Given the description of an element on the screen output the (x, y) to click on. 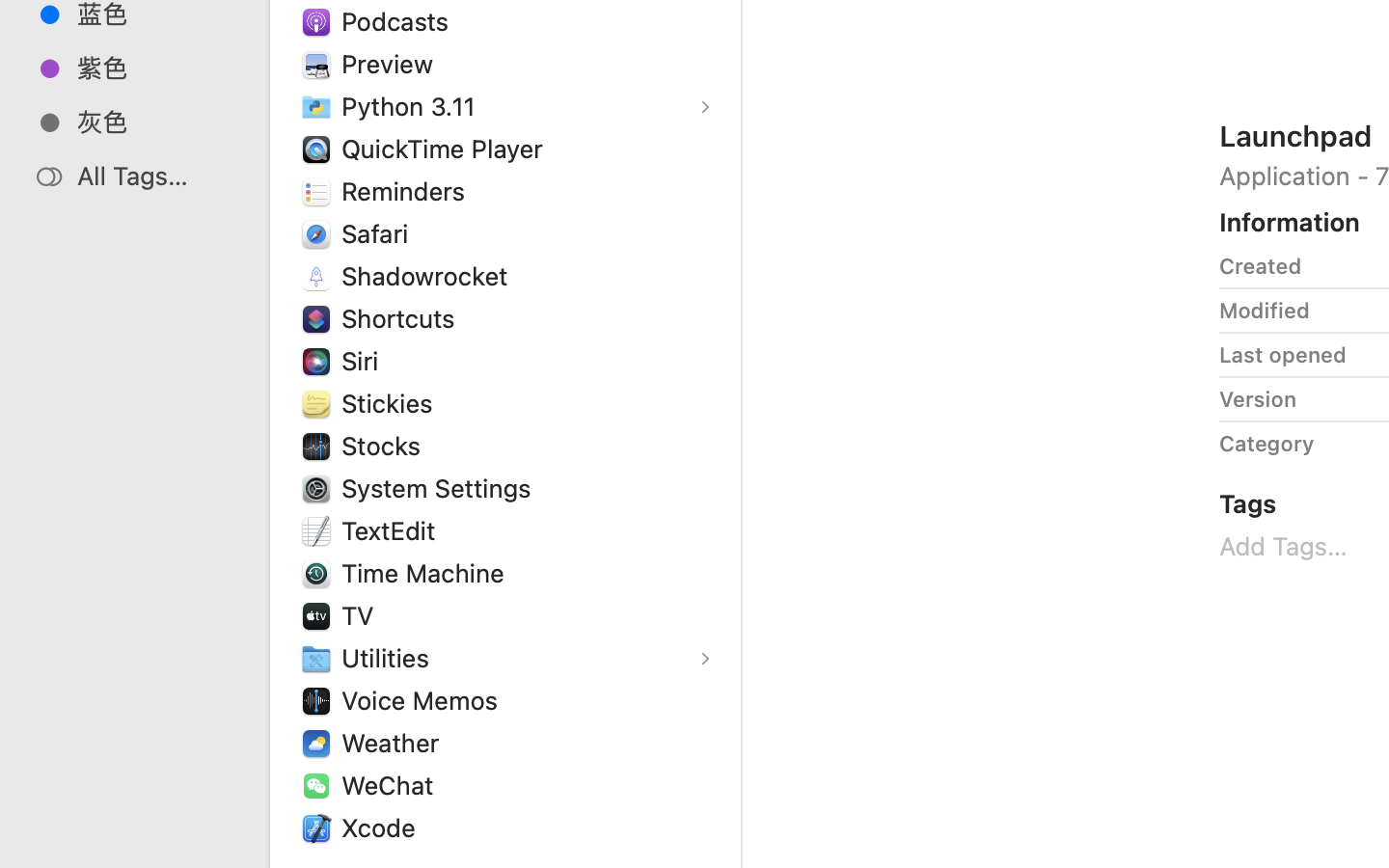
Stocks Element type: AXTextField (385, 445)
Podcasts Element type: AXTextField (399, 20)
Xcode Element type: AXTextField (382, 827)
Tags Element type: AXStaticText (1247, 503)
Siri Element type: AXTextField (364, 360)
